Given the description of an element on the screen output the (x, y) to click on. 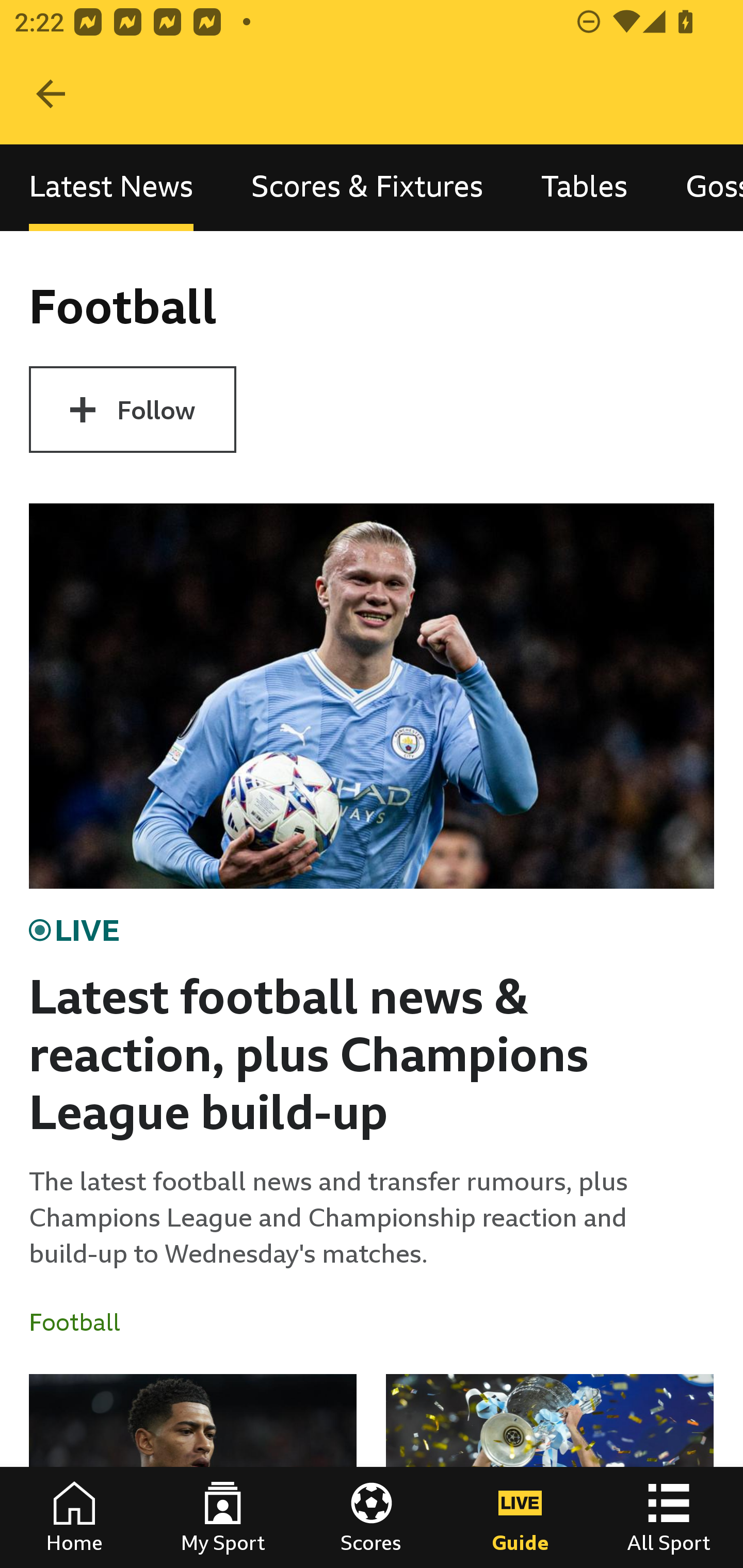
Navigate up (50, 93)
Latest News, selected Latest News (111, 187)
Scores & Fixtures (367, 187)
Tables (584, 187)
Gossip (699, 187)
Follow Football Follow (132, 409)
Home (74, 1517)
My Sport (222, 1517)
Scores (371, 1517)
All Sport (668, 1517)
